Given the description of an element on the screen output the (x, y) to click on. 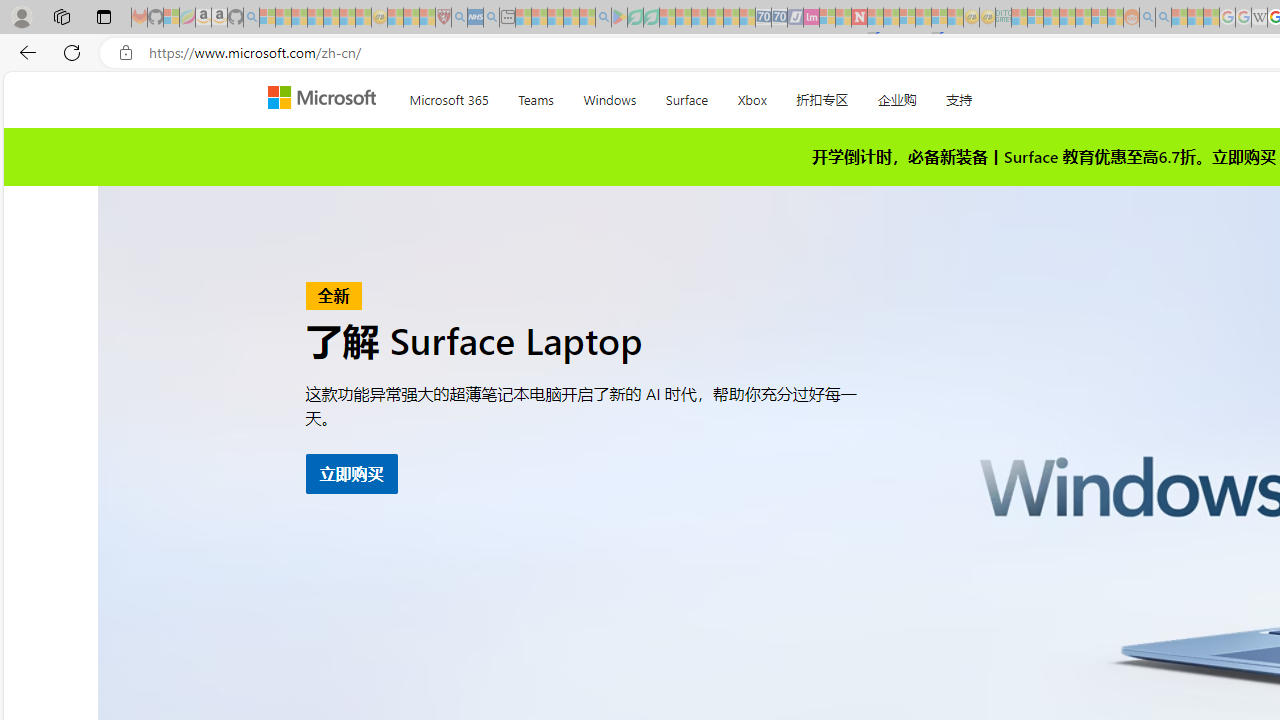
Windows (609, 96)
Latest Politics News & Archive | Newsweek.com - Sleeping (859, 17)
Expert Portfolios - Sleeping (1067, 17)
Teams (536, 96)
Pets - MSN - Sleeping (571, 17)
list of asthma inhalers uk - Search - Sleeping (459, 17)
Local - MSN - Sleeping (427, 17)
google - Search - Sleeping (603, 17)
New tab - Sleeping (507, 17)
Utah sues federal government - Search - Sleeping (1163, 17)
